Given the description of an element on the screen output the (x, y) to click on. 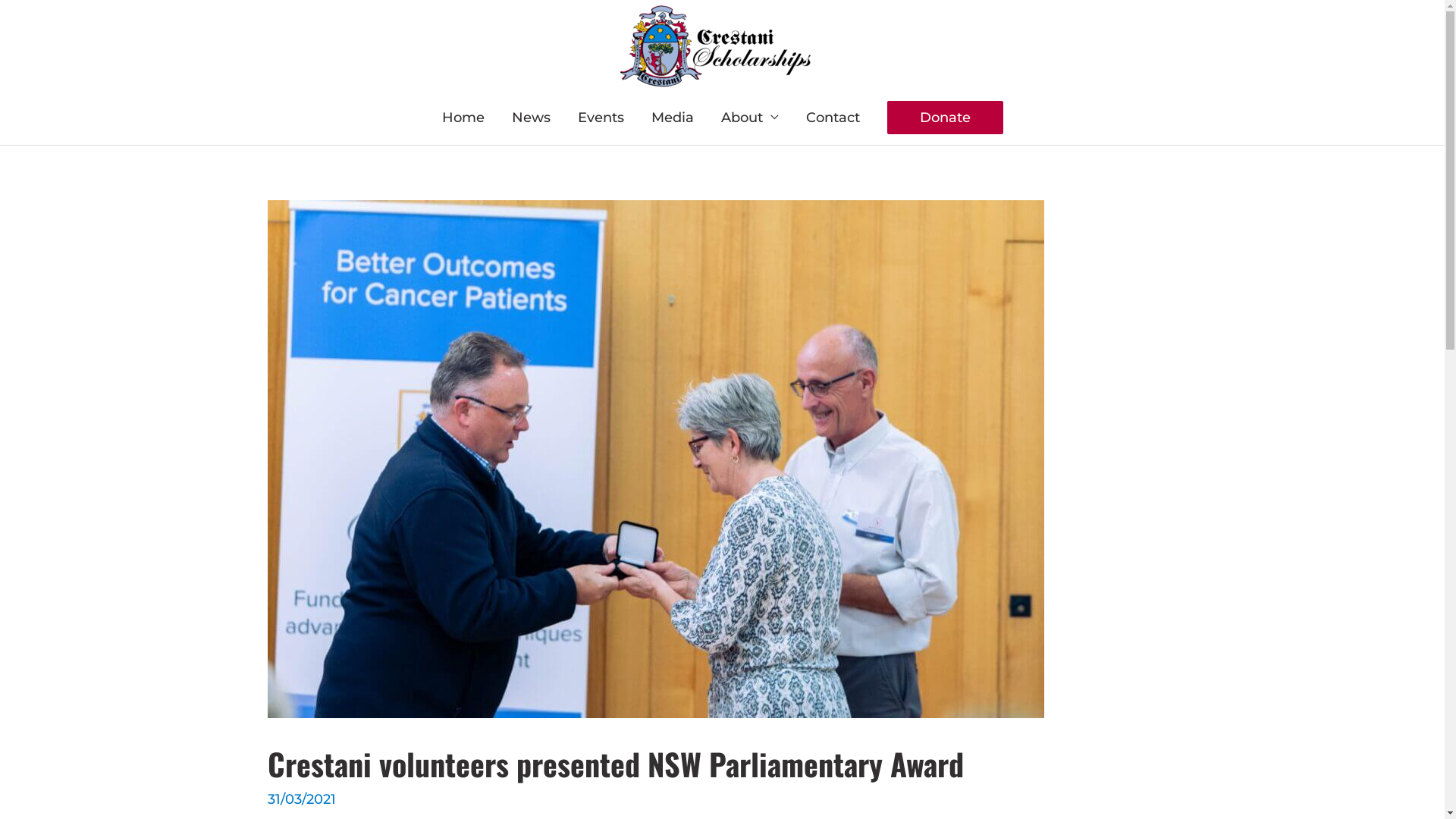
Events Element type: text (600, 117)
About Element type: text (748, 117)
Home Element type: text (462, 117)
Donate Element type: text (945, 117)
Media Element type: text (671, 117)
Contact Element type: text (831, 117)
News Element type: text (530, 117)
